Given the description of an element on the screen output the (x, y) to click on. 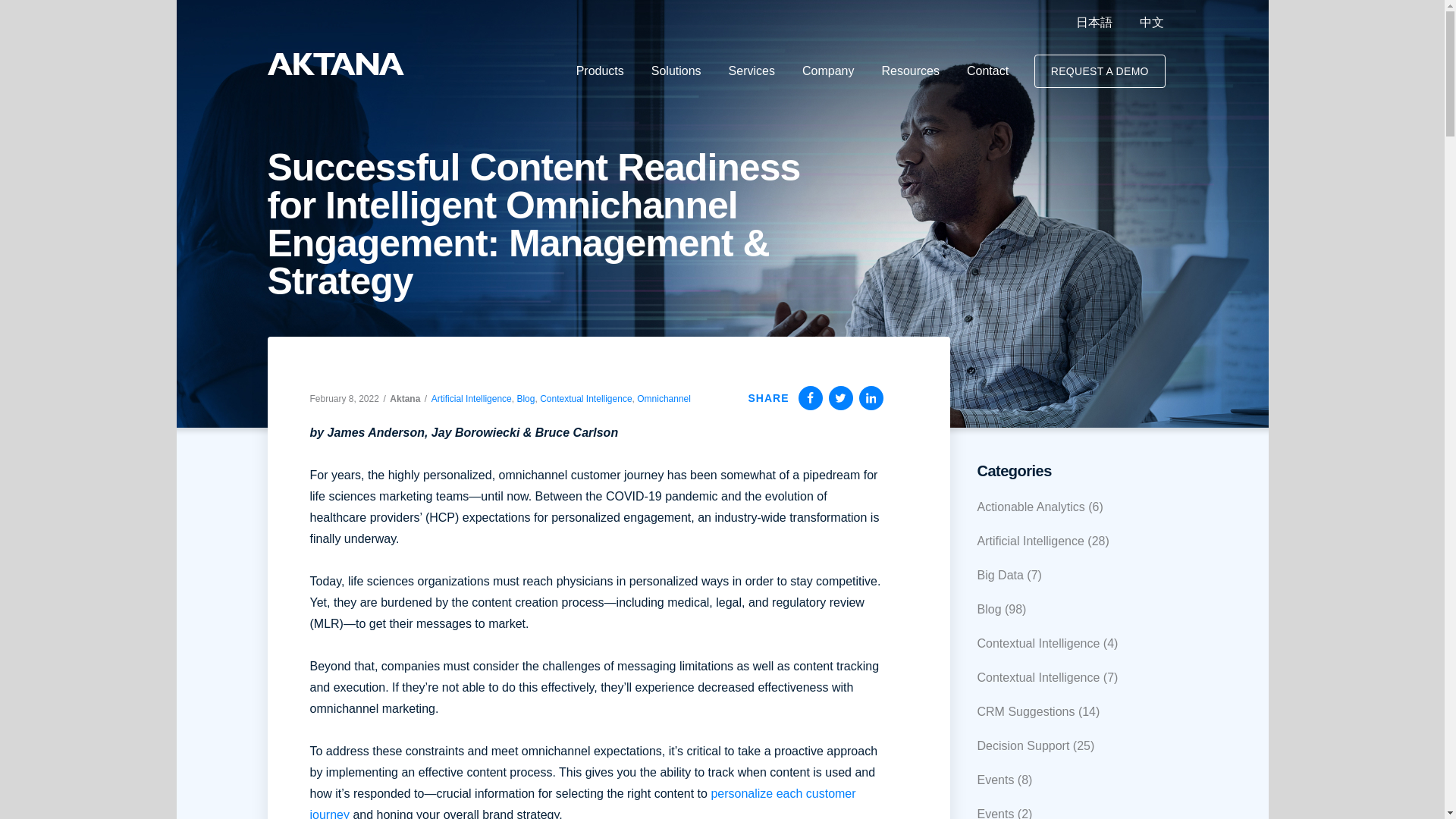
Resources (909, 70)
Blog (525, 398)
Artificial Intelligence (471, 398)
Company (827, 70)
Contextual Intelligence (585, 398)
Services (751, 70)
Products (600, 70)
REQUEST A DEMO (1099, 70)
Solutions (675, 70)
Contact (987, 70)
